Given the description of an element on the screen output the (x, y) to click on. 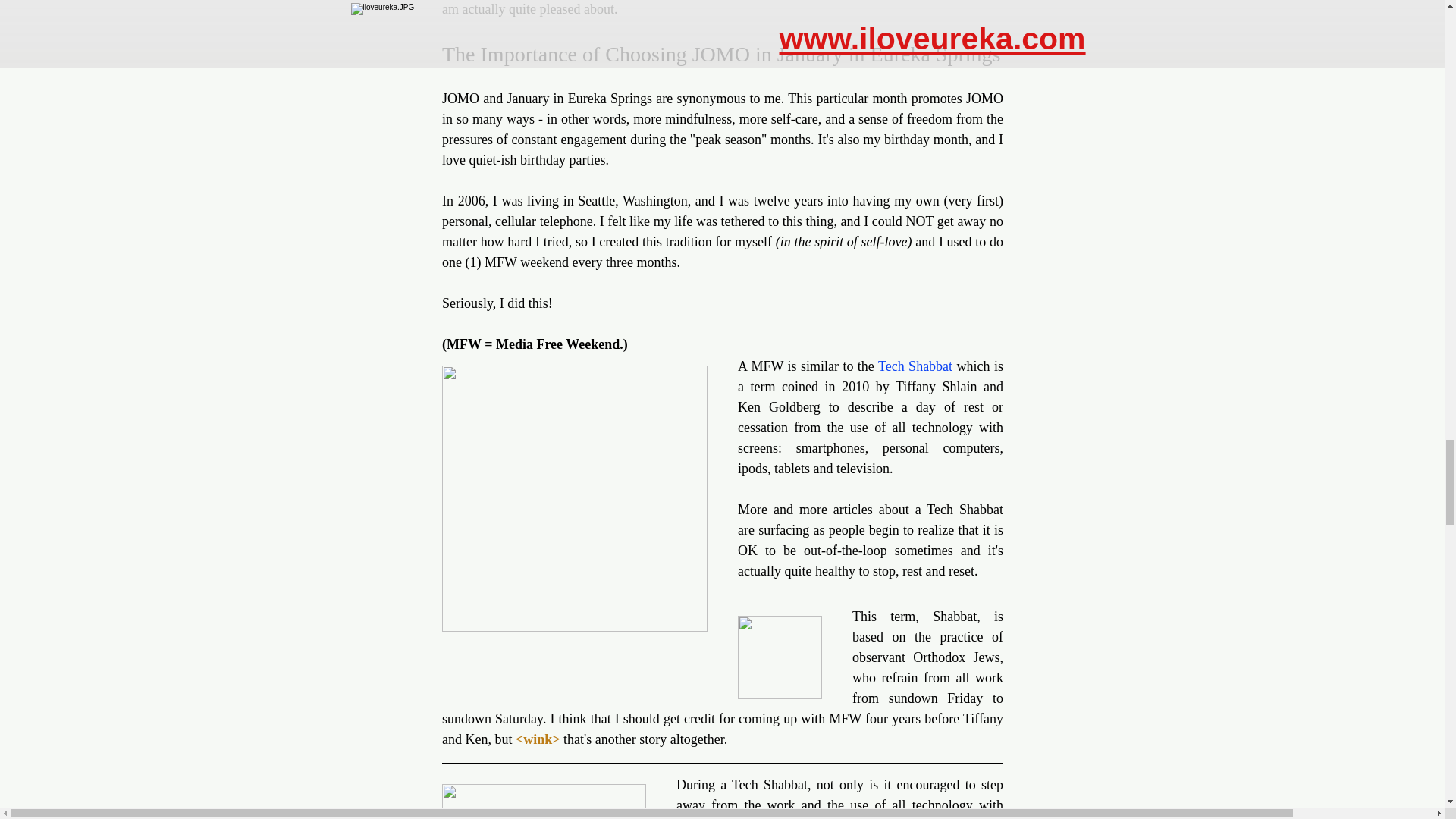
tablets (791, 468)
smartphones (829, 447)
Tech Shabbat (914, 365)
